Given the description of an element on the screen output the (x, y) to click on. 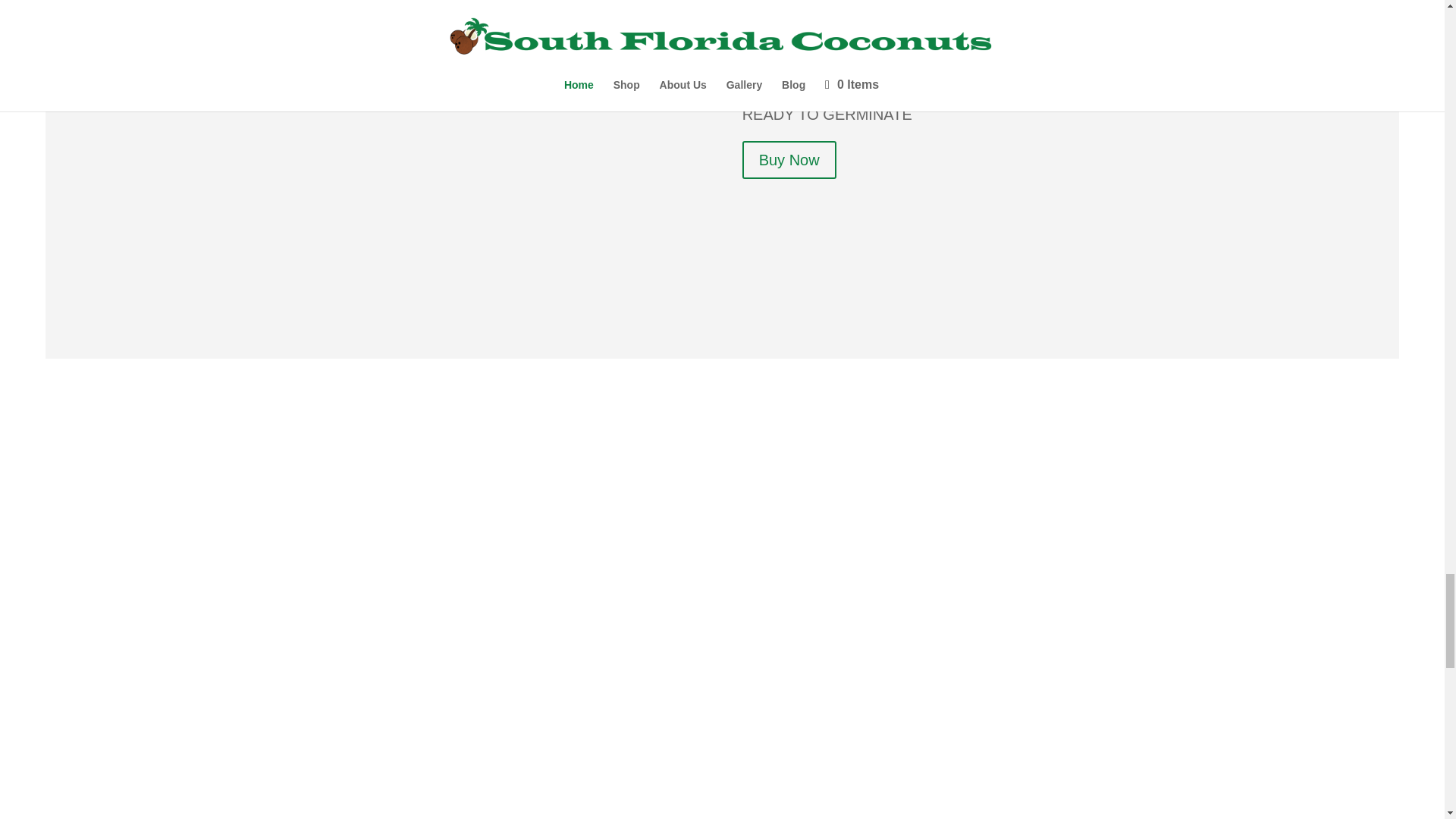
Buy Now (788, 168)
